Given the description of an element on the screen output the (x, y) to click on. 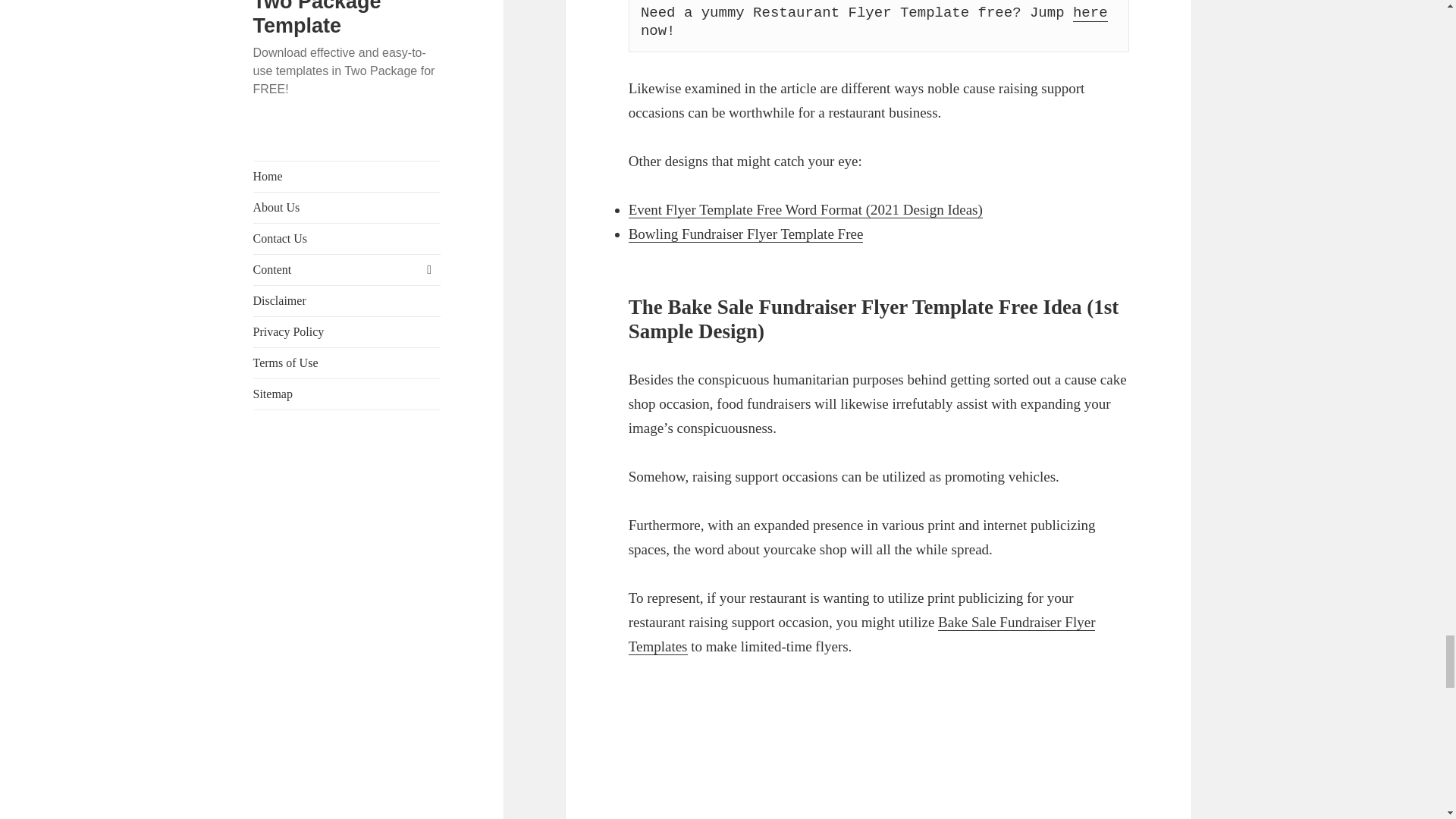
here (1090, 13)
Bake Sale Fundraiser Flyer Templates (862, 634)
Bowling Fundraiser Flyer Template Free (745, 234)
